Given the description of an element on the screen output the (x, y) to click on. 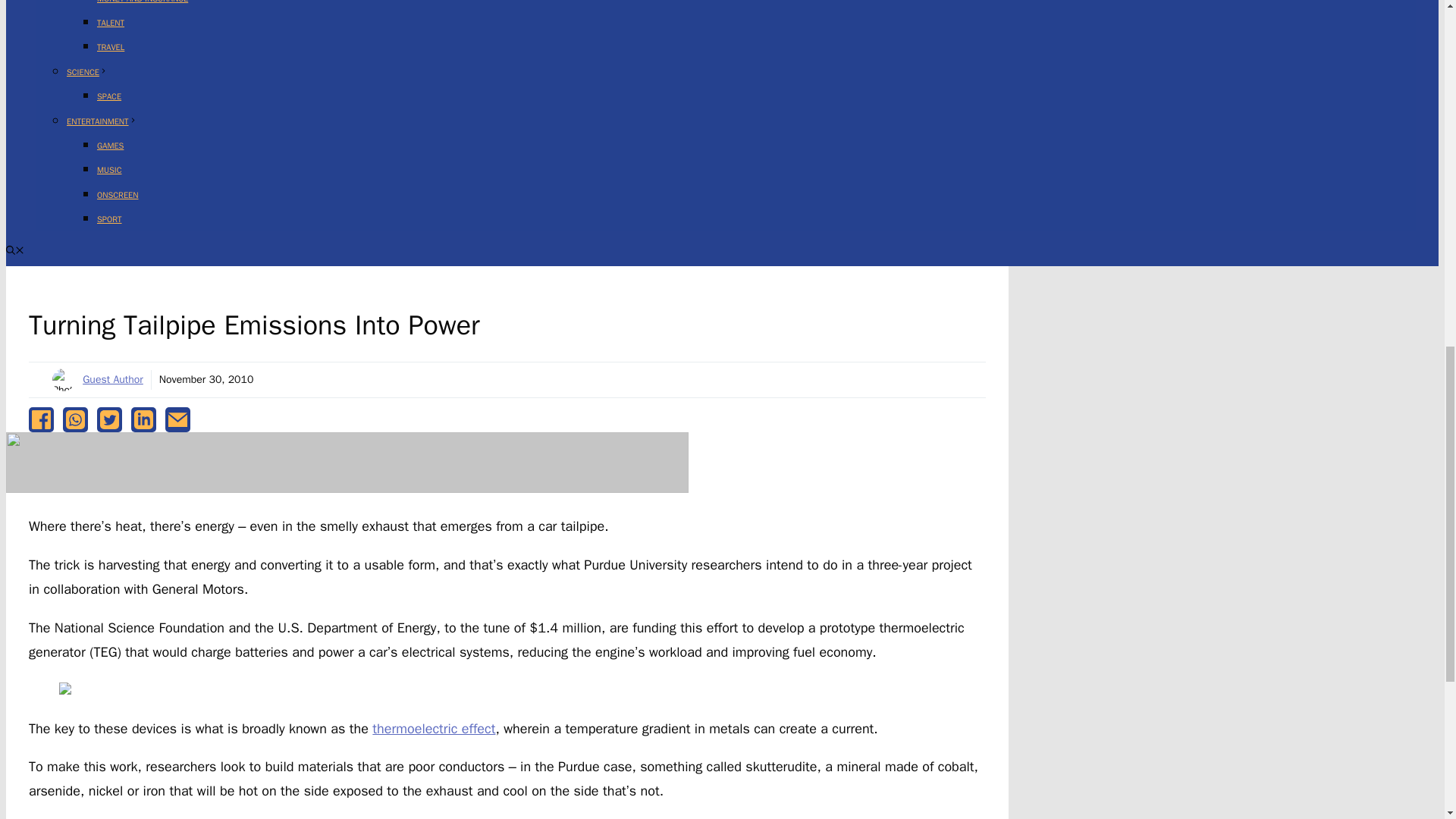
SCIENCE (86, 71)
TRAVEL (110, 46)
SPACE (108, 95)
ENTERTAINMENT (101, 121)
MUSIC (109, 169)
TALENT (110, 22)
MONEY AND INSURANCE (142, 2)
GAMES (110, 145)
